Given the description of an element on the screen output the (x, y) to click on. 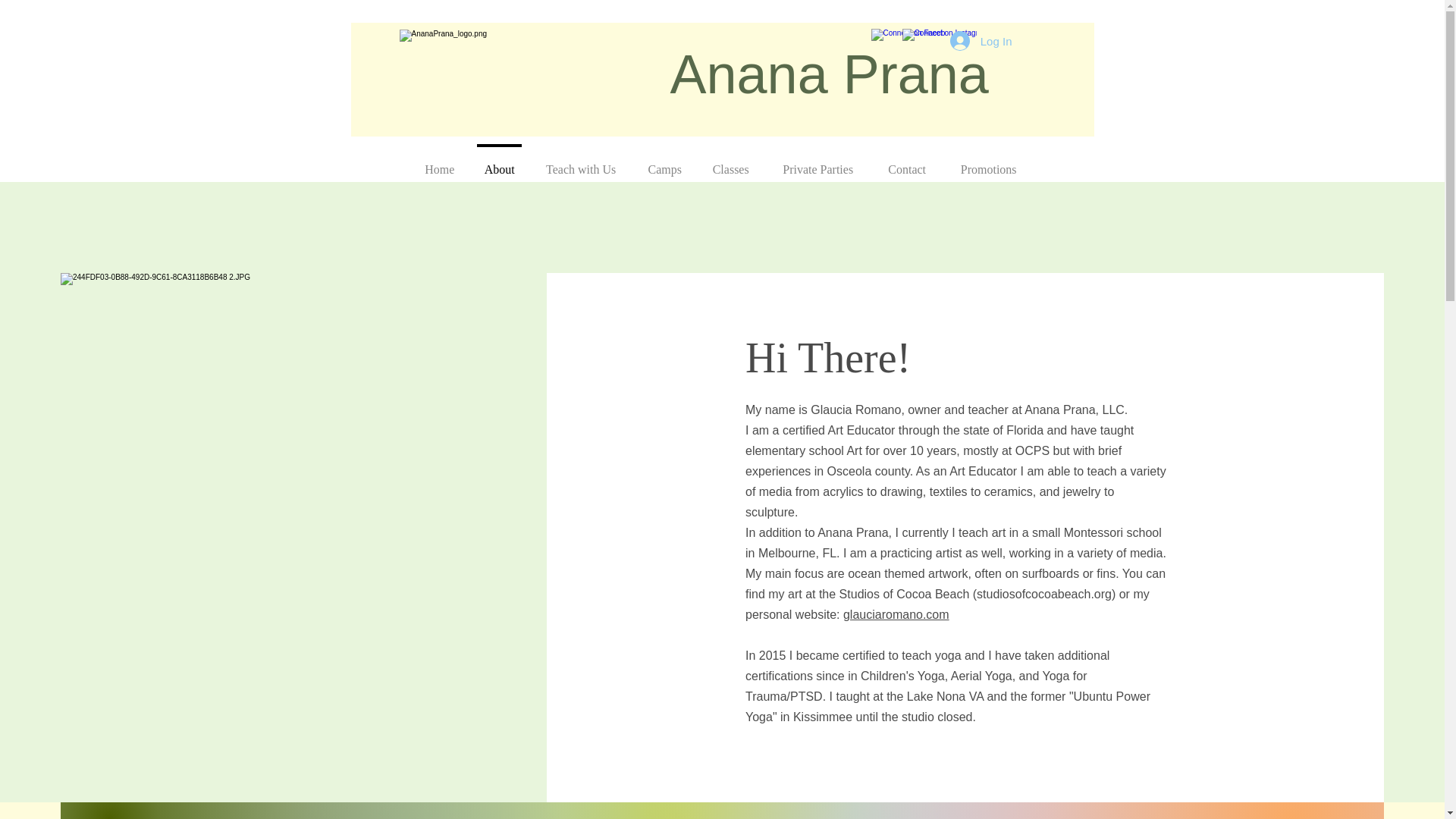
Log In (981, 40)
About (498, 162)
Private Parties (817, 162)
Classes (730, 162)
Camps (664, 162)
Promotions (987, 162)
Teach with Us (580, 162)
glauciaromano.com (896, 614)
Home (438, 162)
Contact (906, 162)
